Given the description of an element on the screen output the (x, y) to click on. 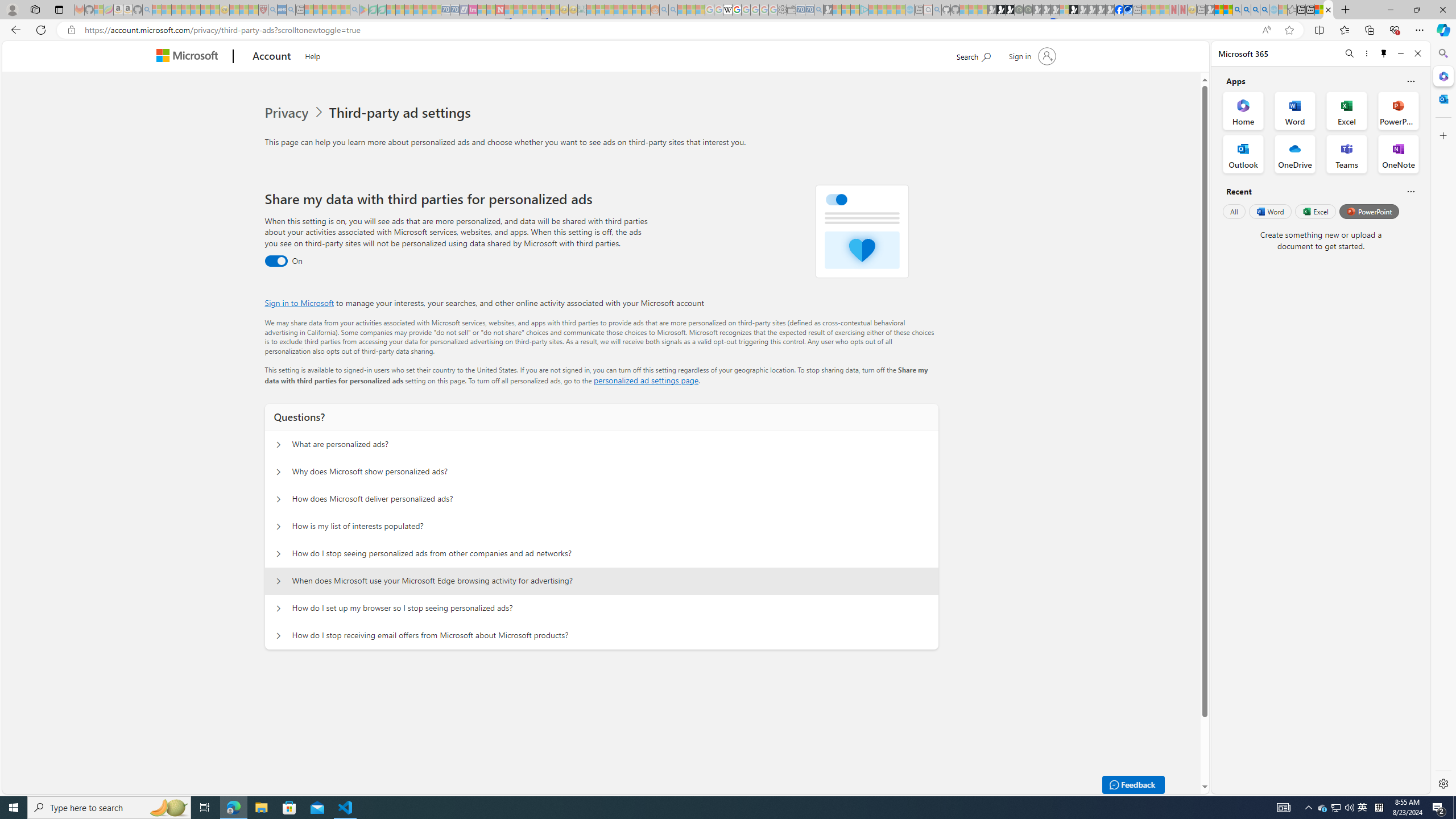
AirNow.gov (1127, 9)
Account (272, 56)
Close Microsoft 365 pane (1442, 76)
Nordace | Facebook (1118, 9)
